Given the description of an element on the screen output the (x, y) to click on. 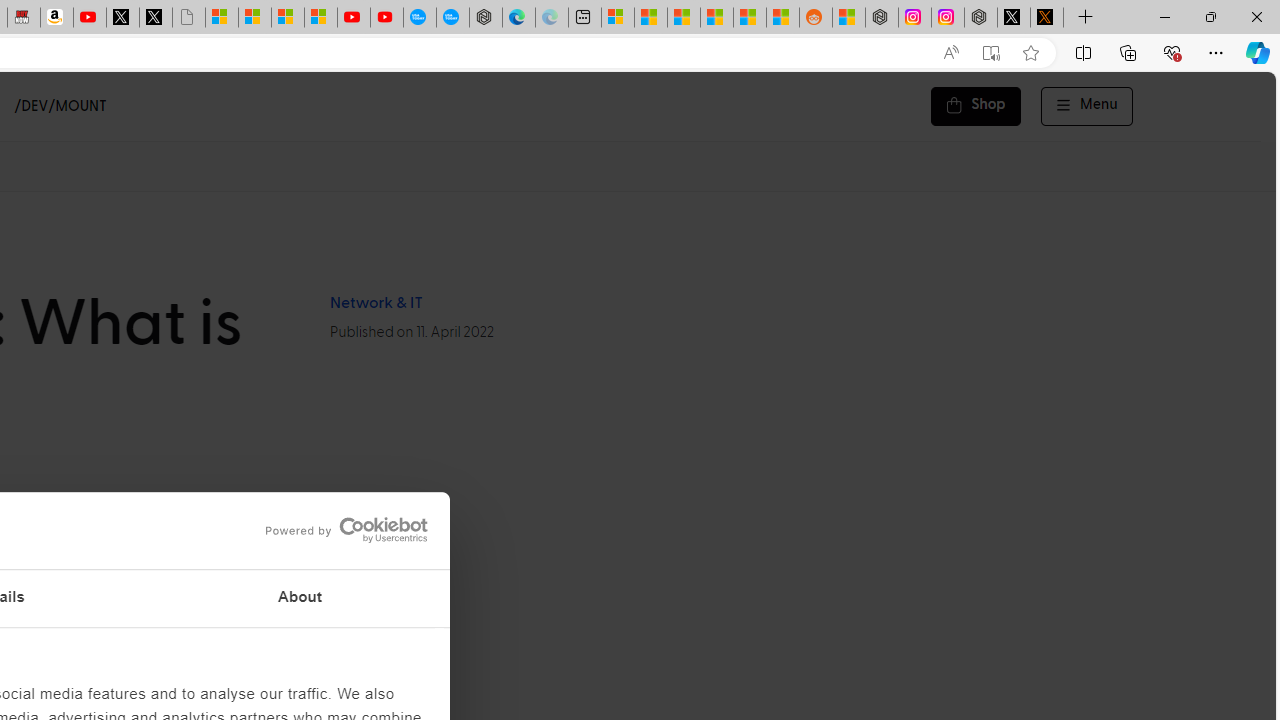
About (299, 598)
Nordace (@NordaceOfficial) / X (1014, 17)
Untitled (188, 17)
